Given the description of an element on the screen output the (x, y) to click on. 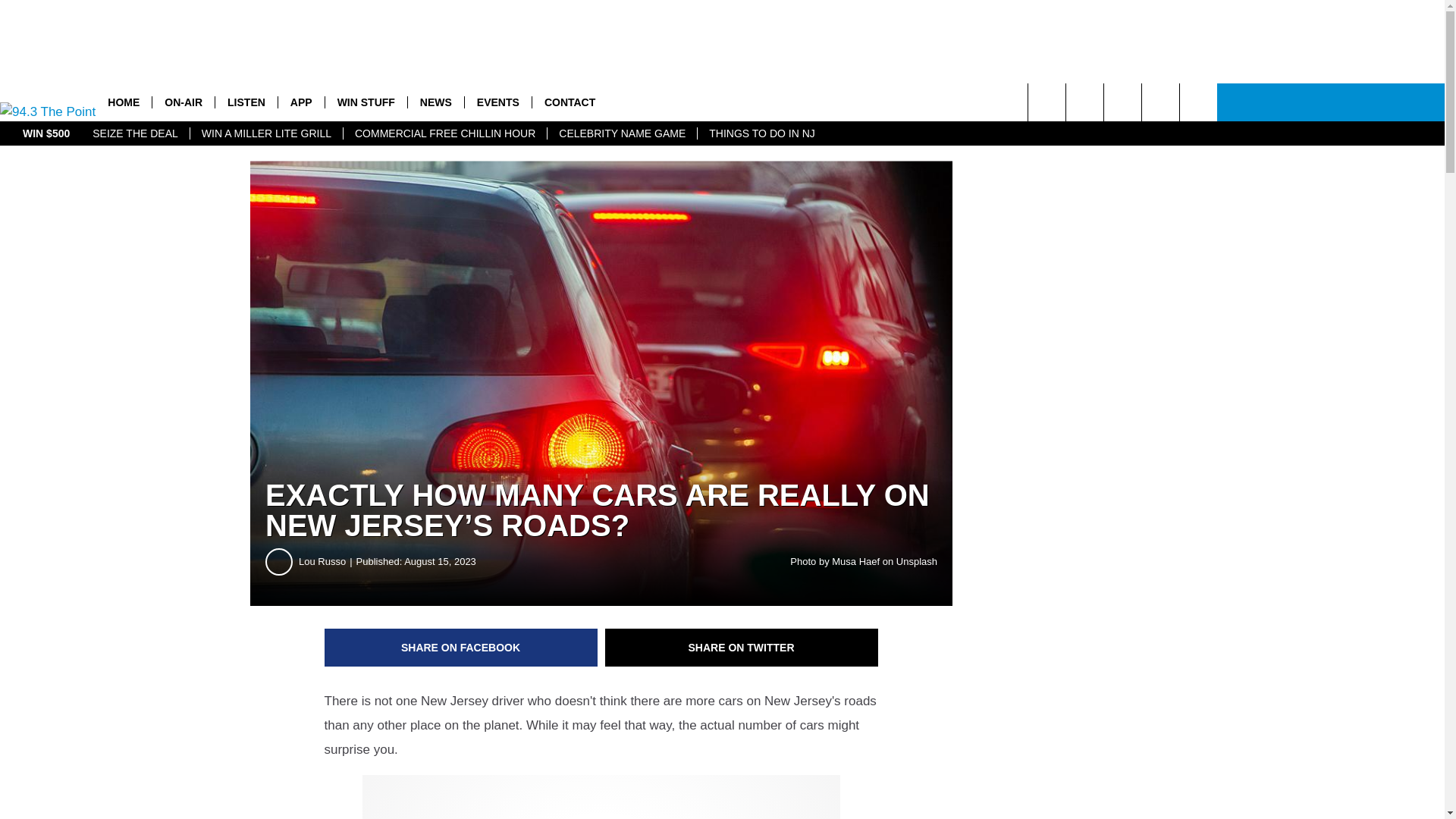
HOME (123, 102)
NEWS (435, 102)
Share on Facebook (460, 647)
CELEBRITY NAME GAME (622, 133)
LISTEN (246, 102)
SEIZE THE DEAL (135, 133)
Share on Twitter (741, 647)
WIN STUFF (365, 102)
APP (301, 102)
WIN A MILLER LITE GRILL (265, 133)
